Given the description of an element on the screen output the (x, y) to click on. 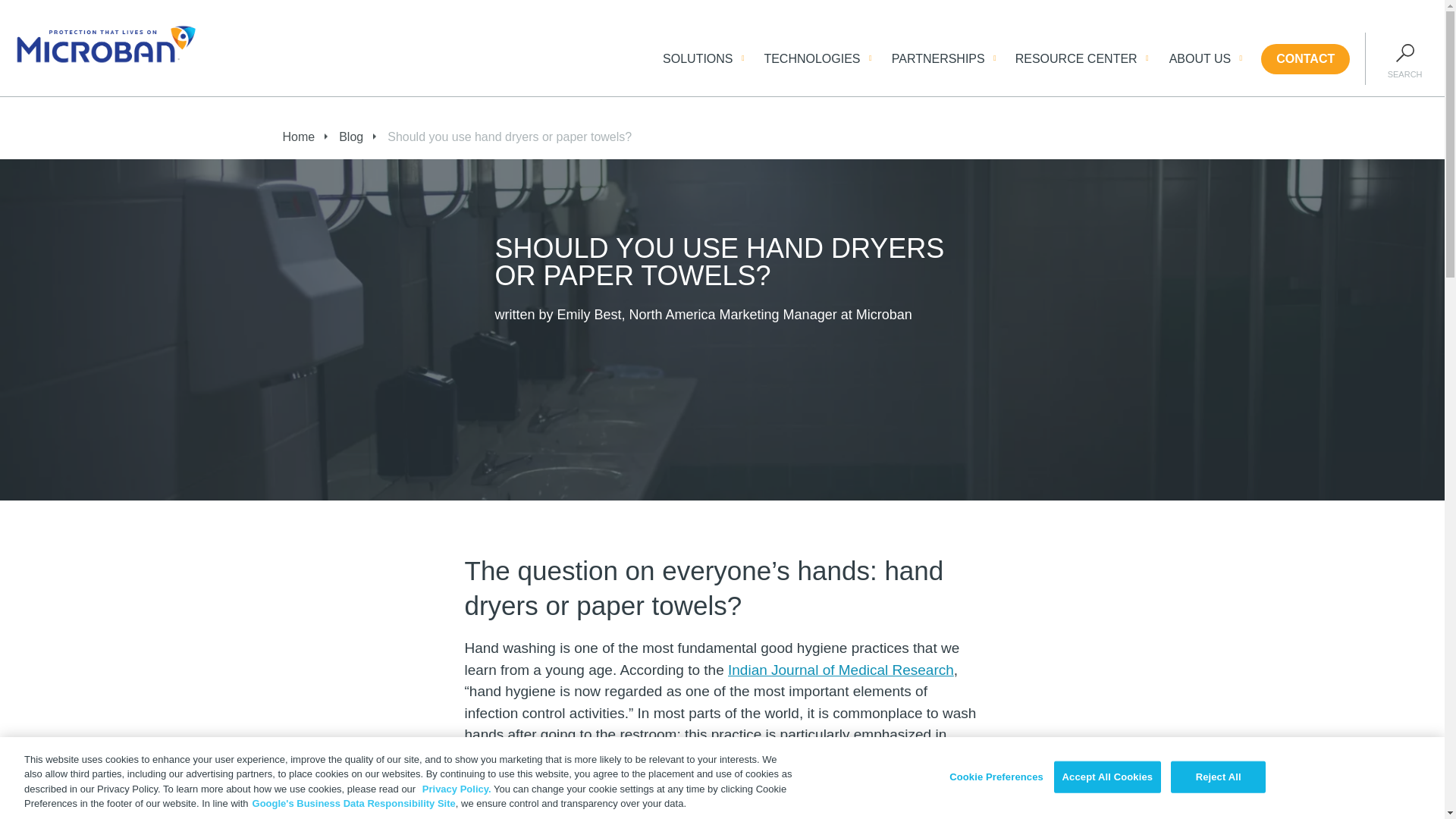
TECHNOLOGIES (811, 58)
PARTNERSHIPS (938, 58)
SOLUTIONS (697, 58)
